Given the description of an element on the screen output the (x, y) to click on. 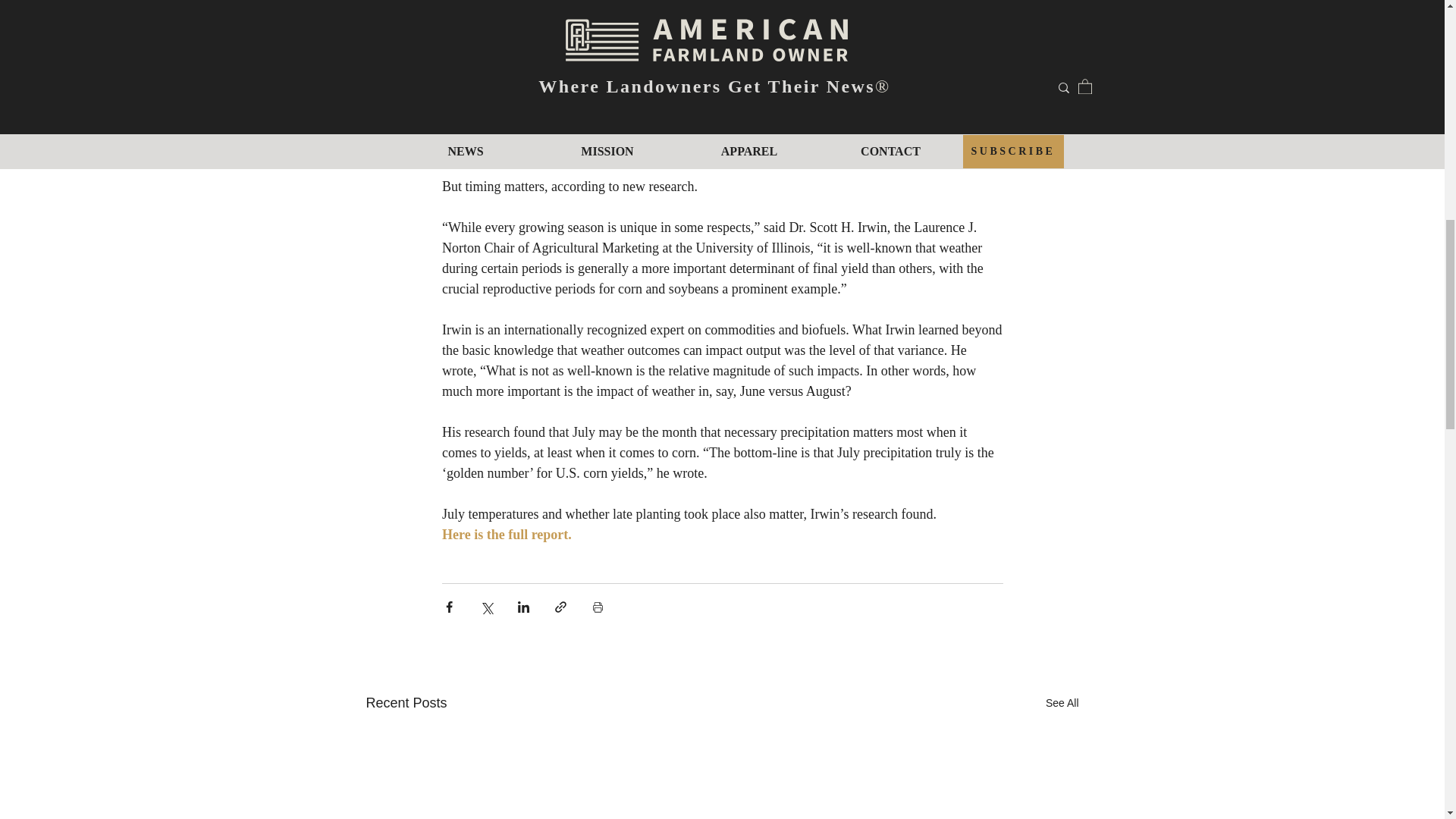
Here is the full report. (505, 534)
See All (1061, 703)
